Given the description of an element on the screen output the (x, y) to click on. 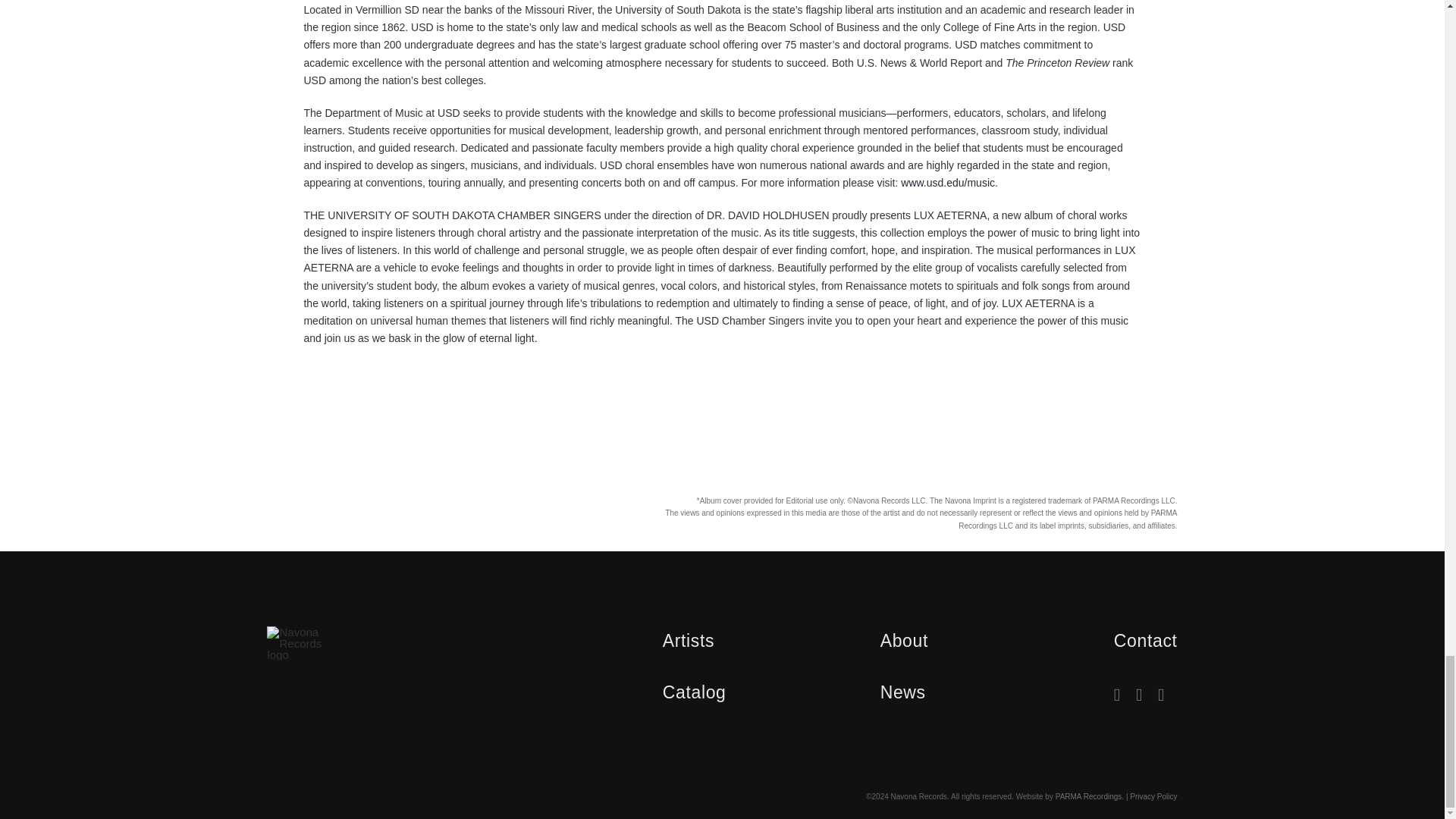
Catalog (694, 691)
Artists (688, 640)
